Given the description of an element on the screen output the (x, y) to click on. 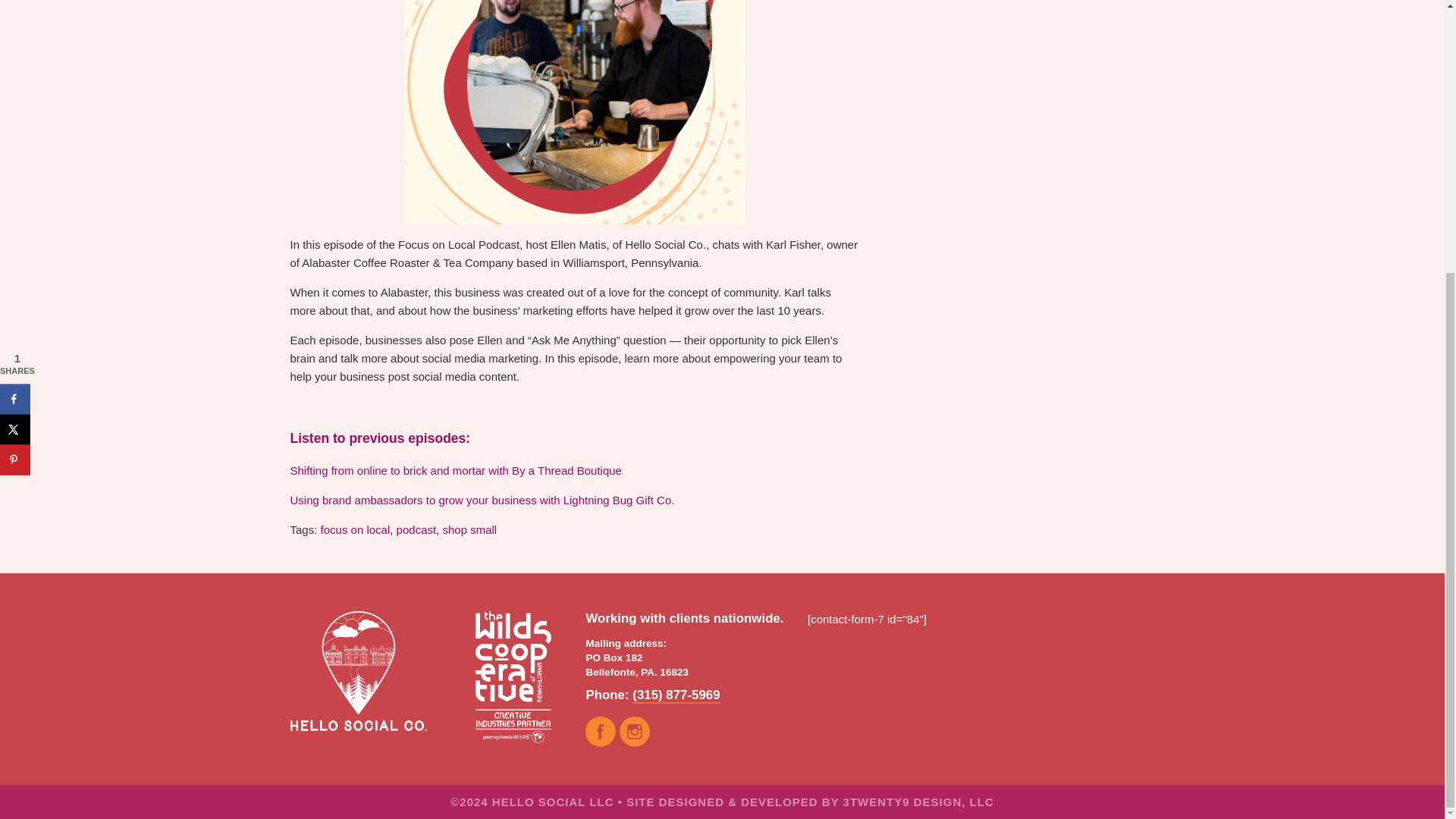
Share on X (15, 28)
podcast (416, 529)
Save to Pinterest (15, 59)
focus on local (355, 529)
shop small (469, 529)
Share on Facebook (15, 6)
